Given the description of an element on the screen output the (x, y) to click on. 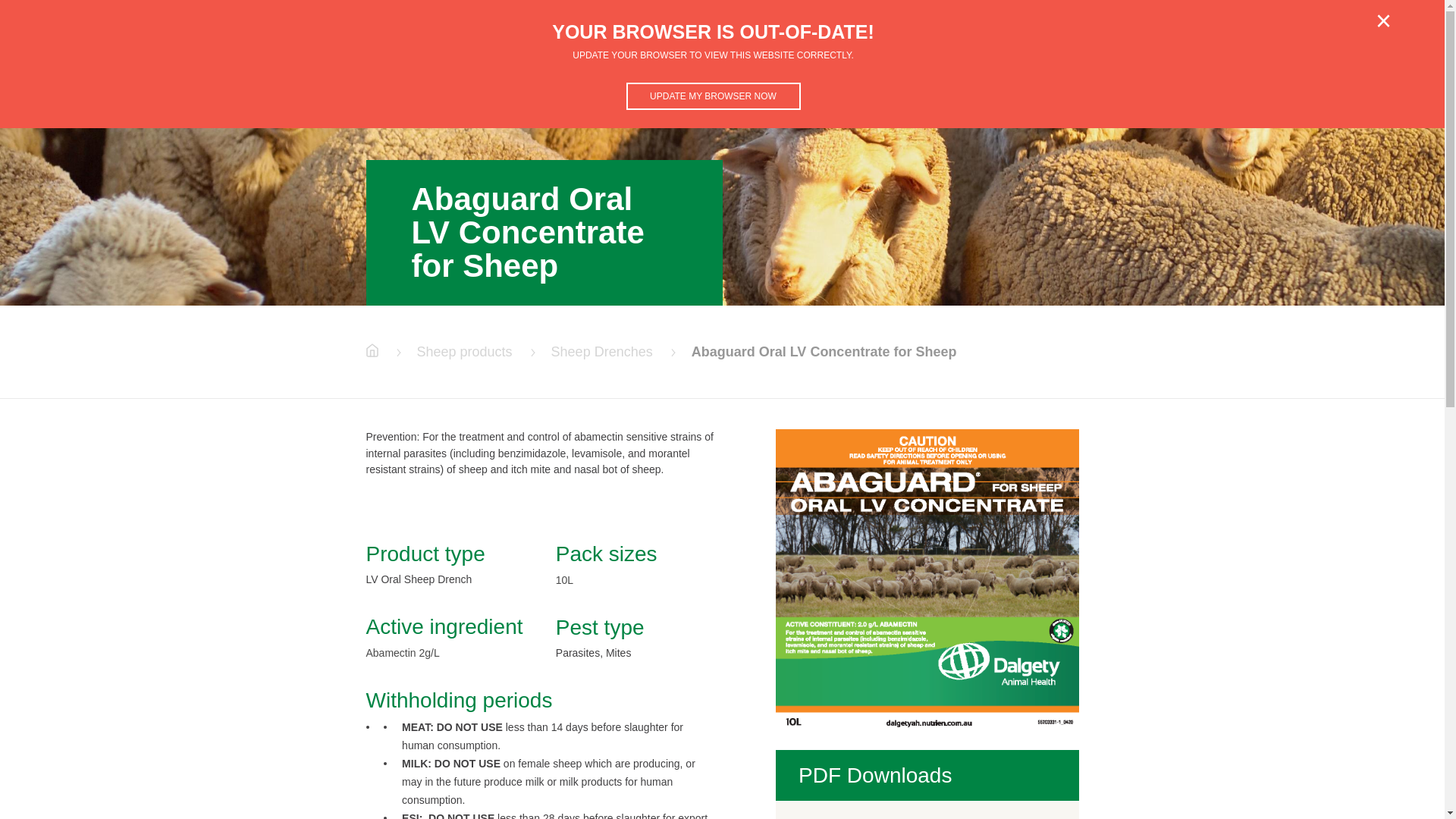
Sheep products Element type: text (464, 351)
Abaguard Oral LV Concentrate for Sheep Element type: text (824, 351)
Sheep Drenches Element type: text (601, 351)
UPDATE MY BROWSER NOW Element type: text (713, 95)
Contact Us Element type: text (1260, 37)
Search Element type: text (1331, 37)
Cattle Products Element type: text (926, 37)
Who We Are Element type: text (1173, 37)
Sheep Products Element type: text (1059, 37)
